Given the description of an element on the screen output the (x, y) to click on. 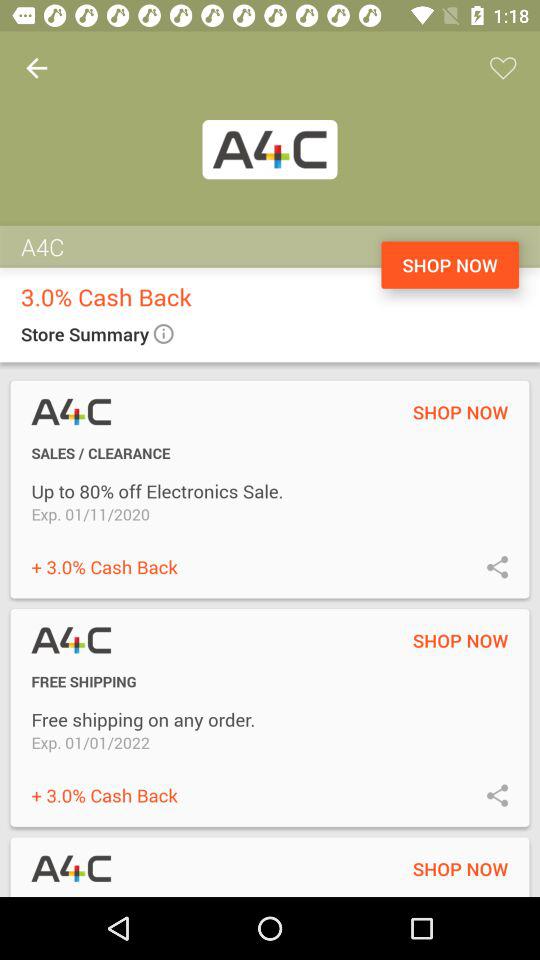
share offer (497, 794)
